Given the description of an element on the screen output the (x, y) to click on. 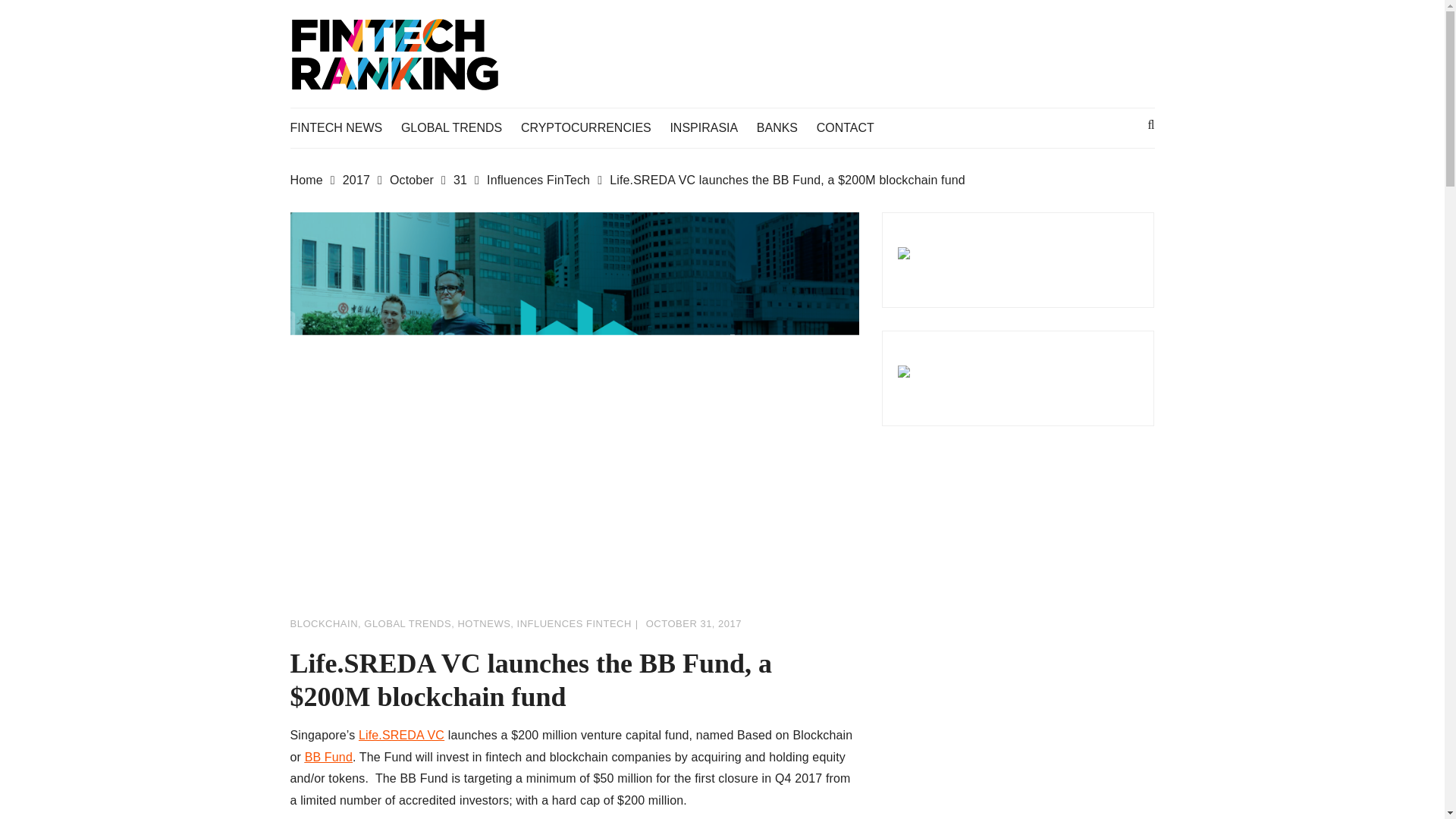
INSPIRASIA (710, 128)
BANKS (784, 128)
FINTECH NEWS (343, 128)
Home (315, 180)
CRYPTOCURRENCIES (593, 128)
2017 (366, 180)
GLOBAL TRENDS (458, 128)
October (421, 180)
CONTACT (852, 128)
